Given the description of an element on the screen output the (x, y) to click on. 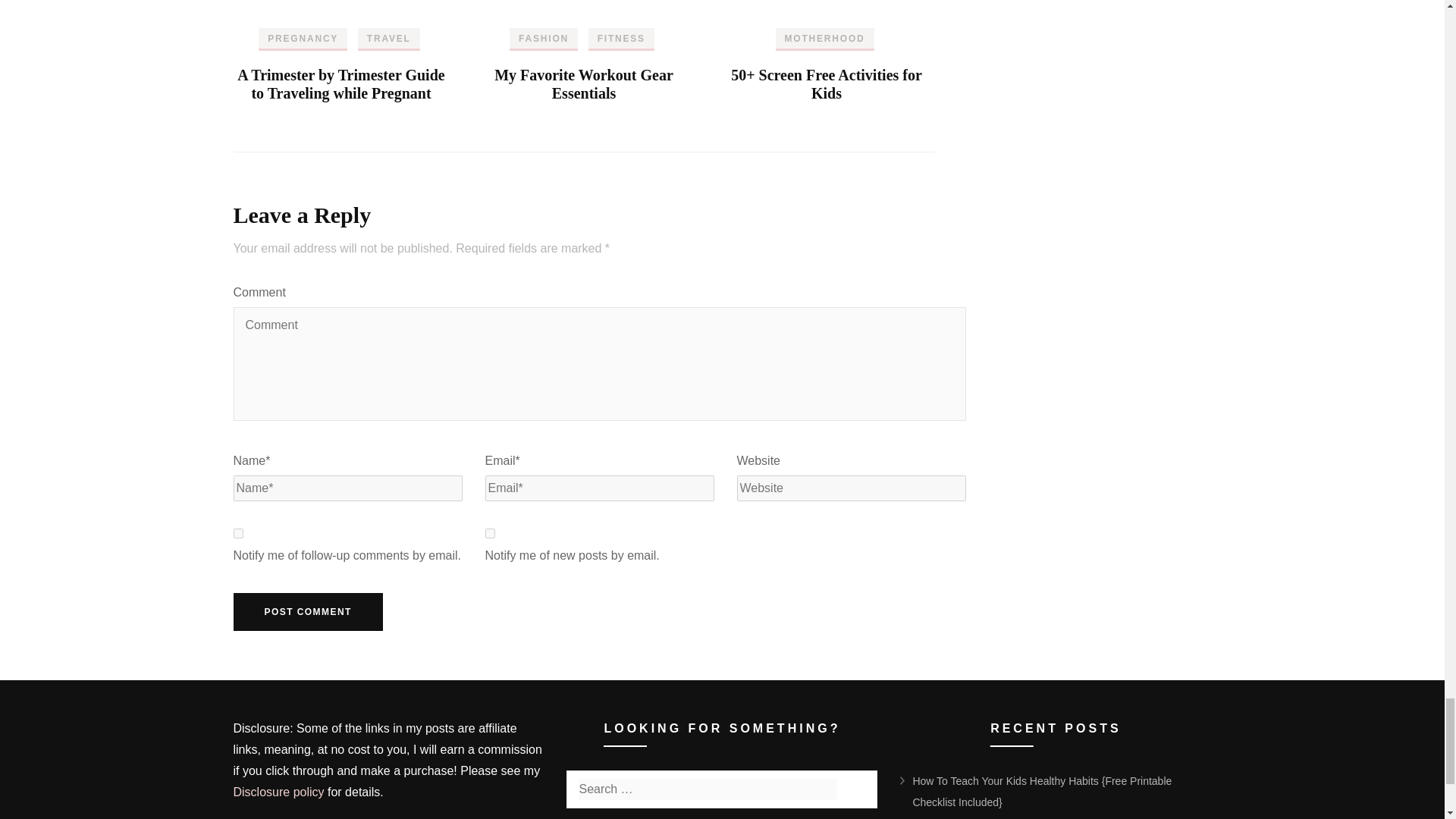
Post Comment (307, 611)
subscribe (237, 533)
Search (857, 789)
Search (857, 789)
subscribe (489, 533)
